Given the description of an element on the screen output the (x, y) to click on. 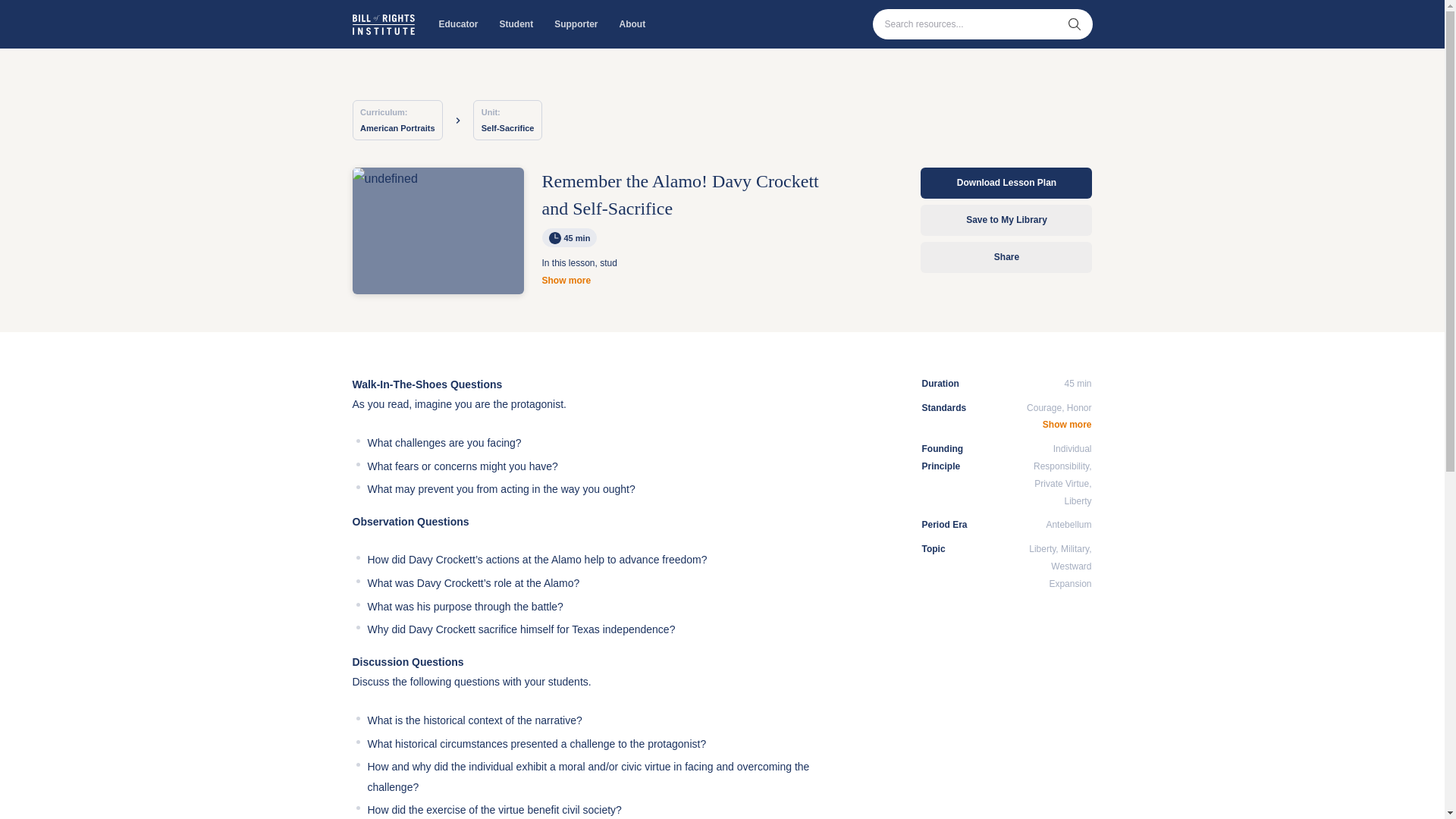
Educator (457, 24)
Submit Search Query. (1073, 24)
Student (516, 24)
